Given the description of an element on the screen output the (x, y) to click on. 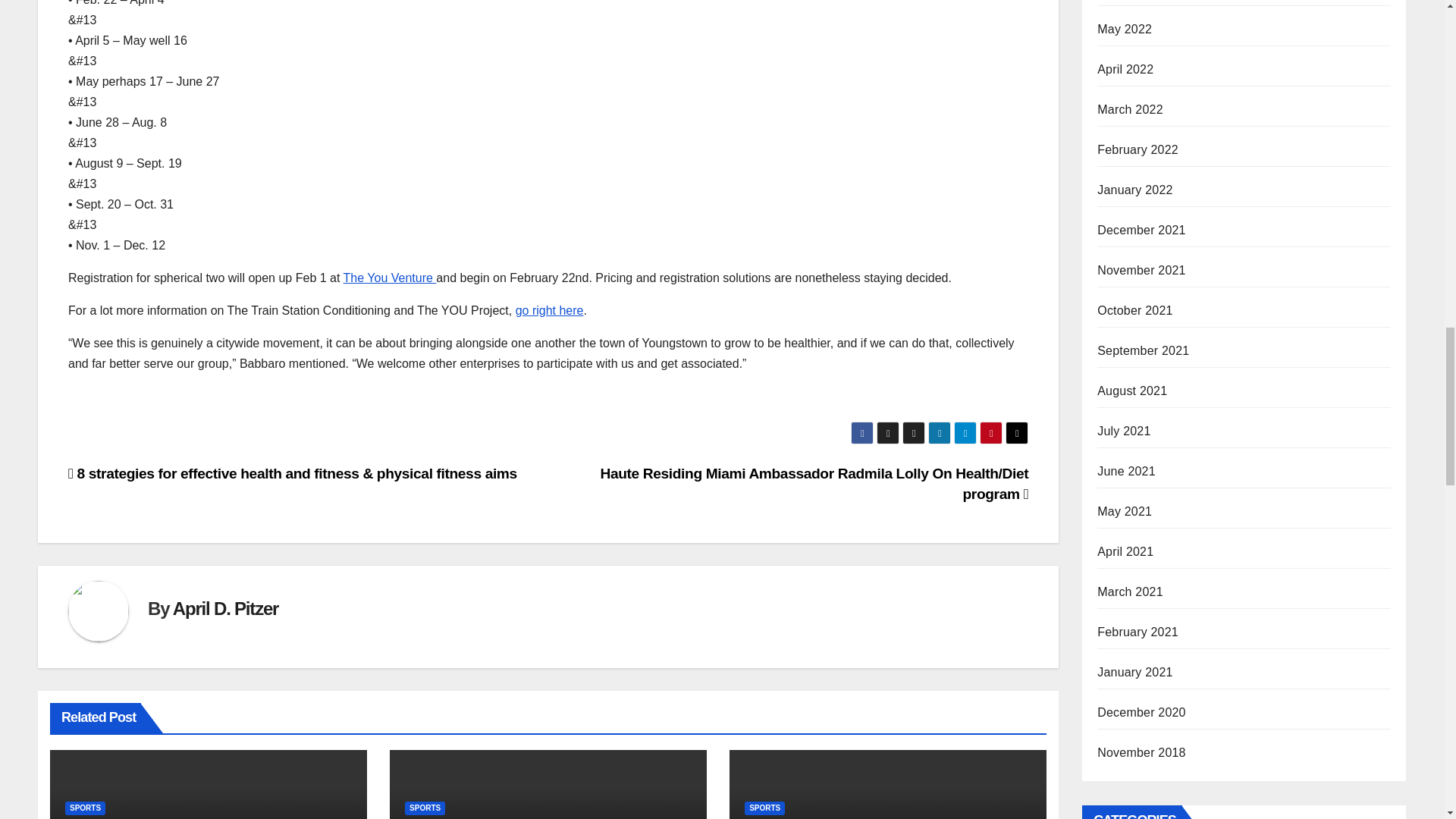
The You Venture (389, 277)
